Given the description of an element on the screen output the (x, y) to click on. 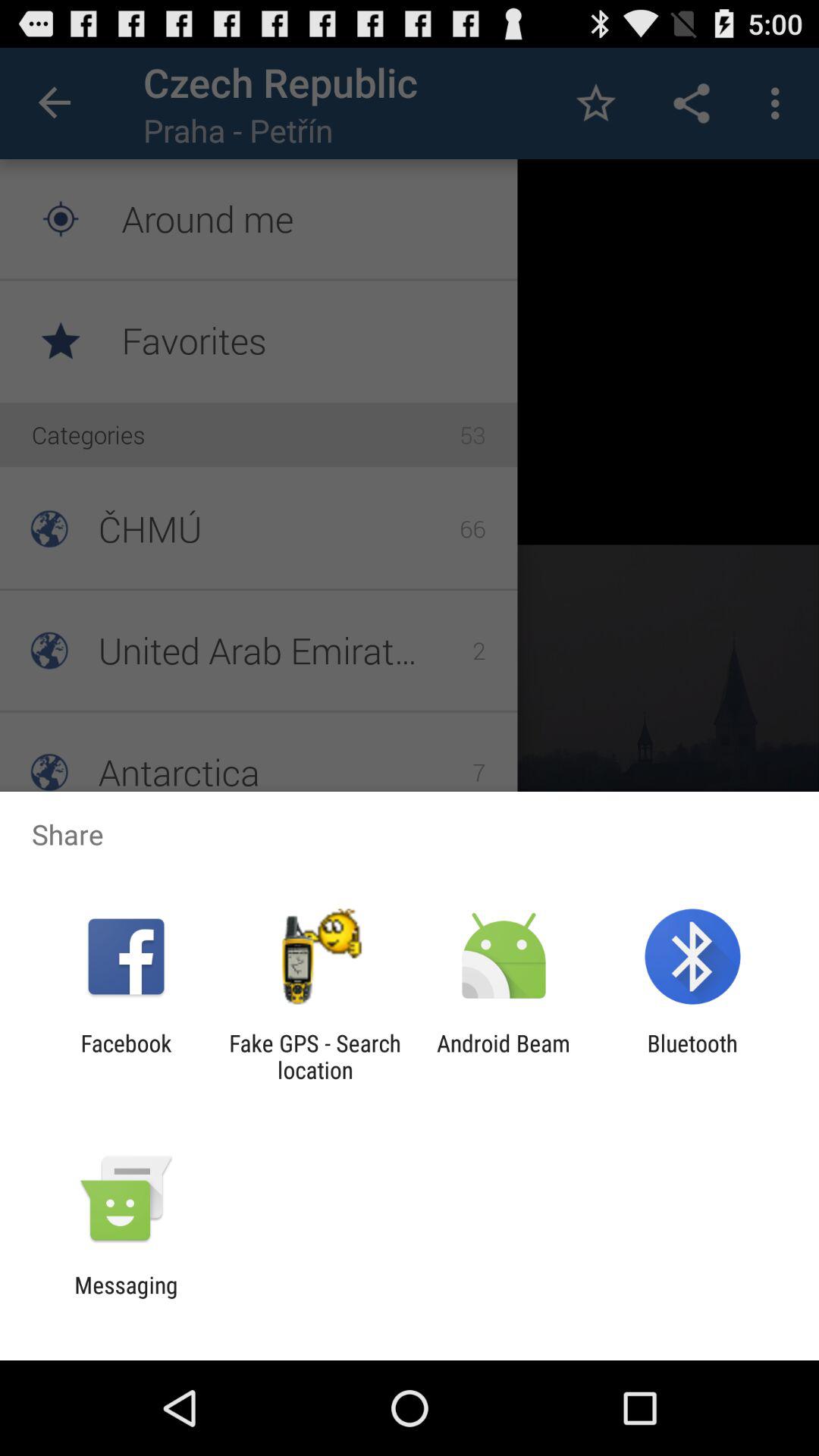
tap the messaging (126, 1298)
